Given the description of an element on the screen output the (x, y) to click on. 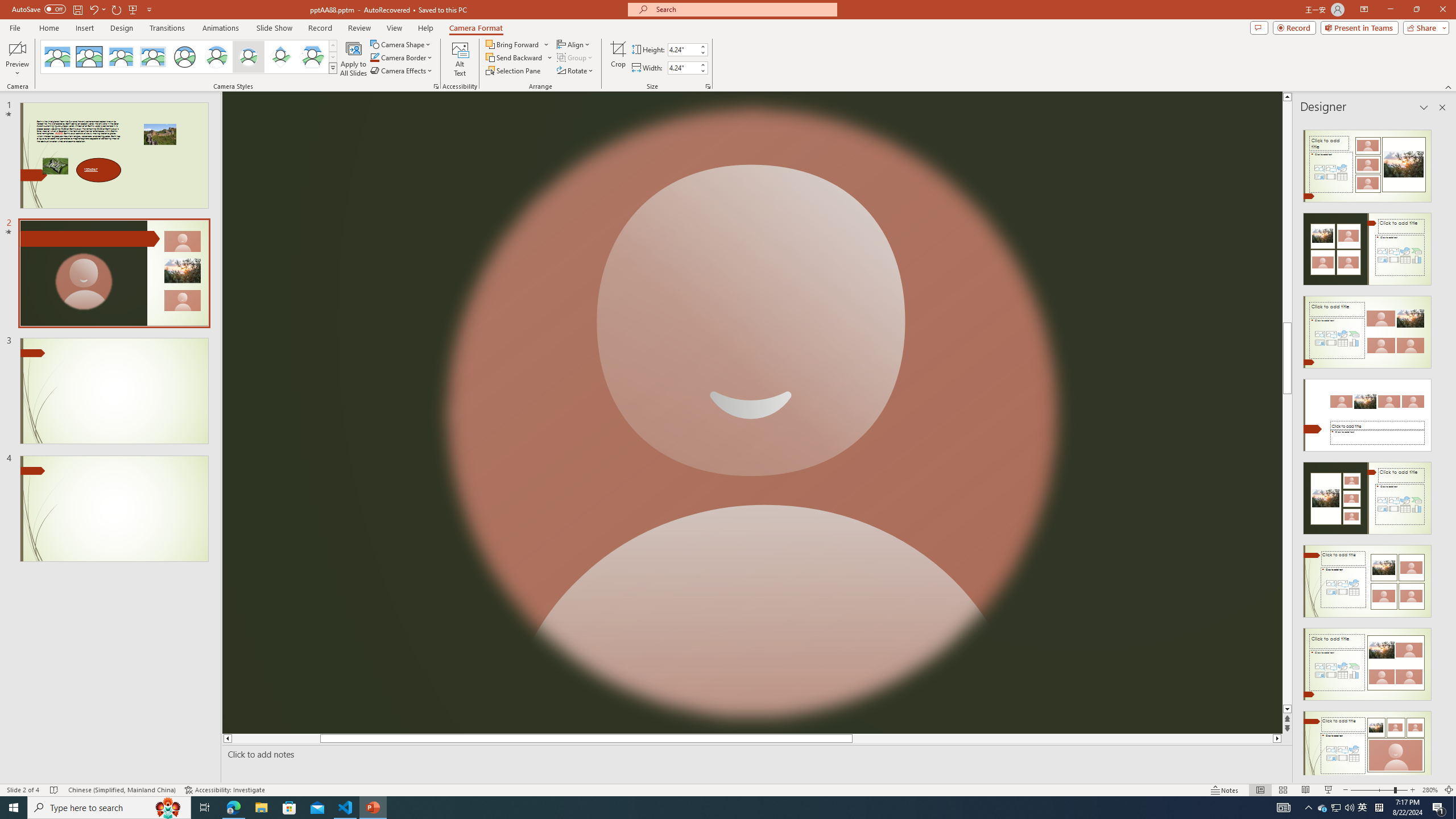
File Tab (15, 27)
Camera Border (401, 56)
Send Backward (514, 56)
System (6, 6)
Center Shadow Circle (216, 56)
Alt Text (459, 58)
Customize Quick Access Toolbar (149, 9)
Camera Effects (402, 69)
Zoom 280% (1430, 790)
Help (425, 28)
Animations (220, 28)
System (6, 6)
Comments (1259, 27)
Notes  (1225, 790)
Undo (92, 9)
